Given the description of an element on the screen output the (x, y) to click on. 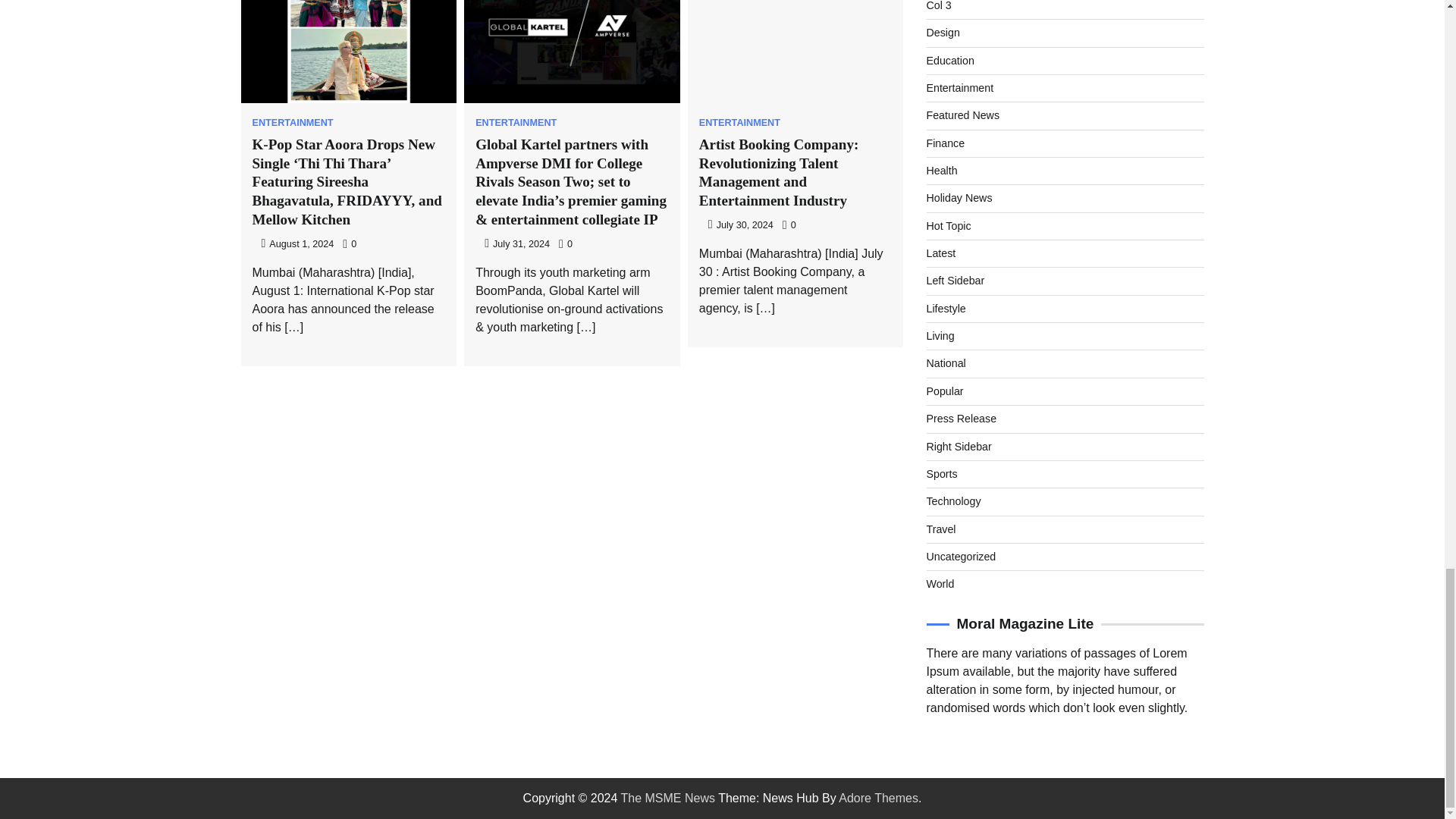
ENTERTAINMENT (739, 122)
ENTERTAINMENT (516, 122)
ENTERTAINMENT (292, 122)
